Given the description of an element on the screen output the (x, y) to click on. 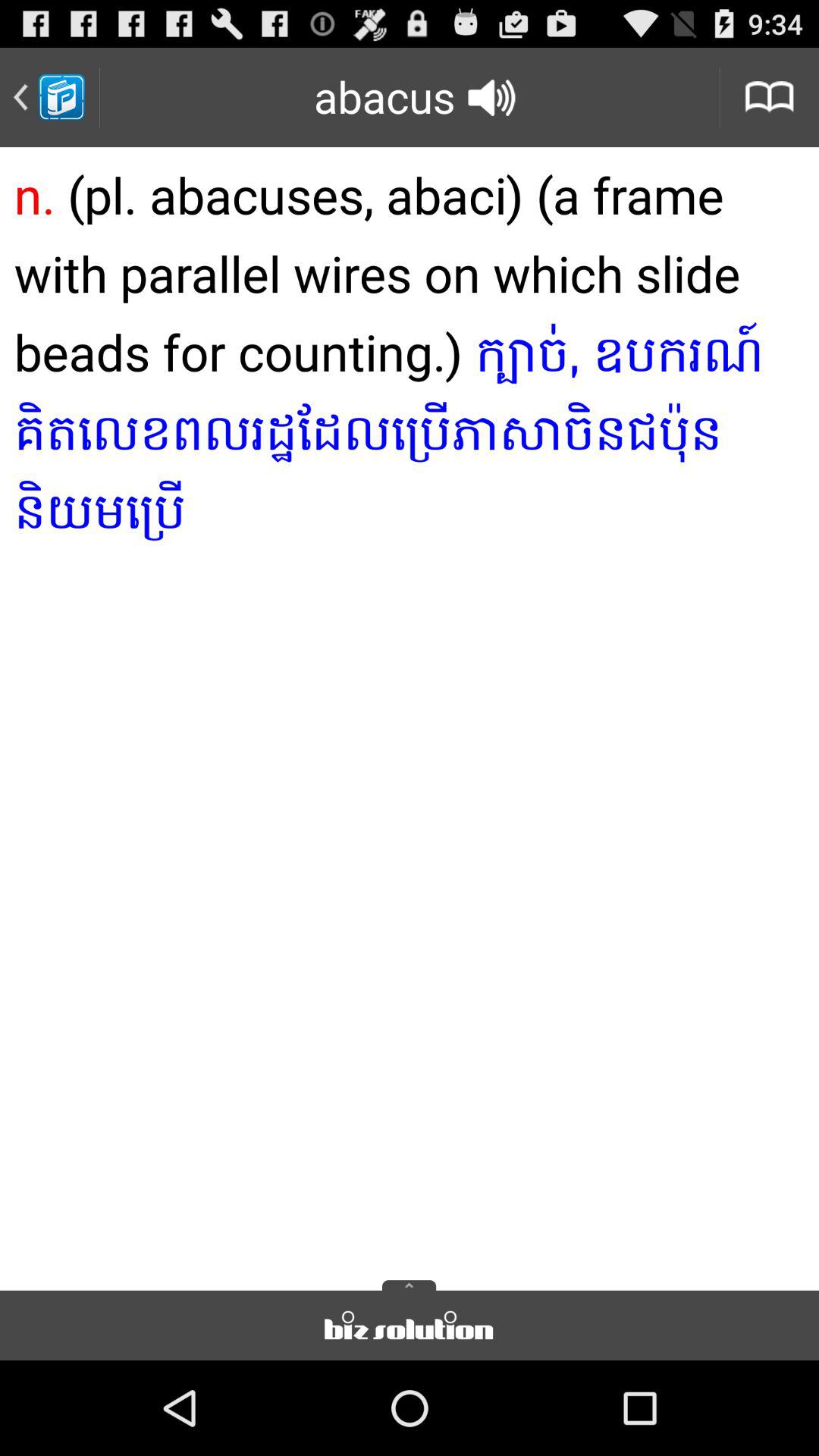
turn off the item at the center (409, 713)
